Given the description of an element on the screen output the (x, y) to click on. 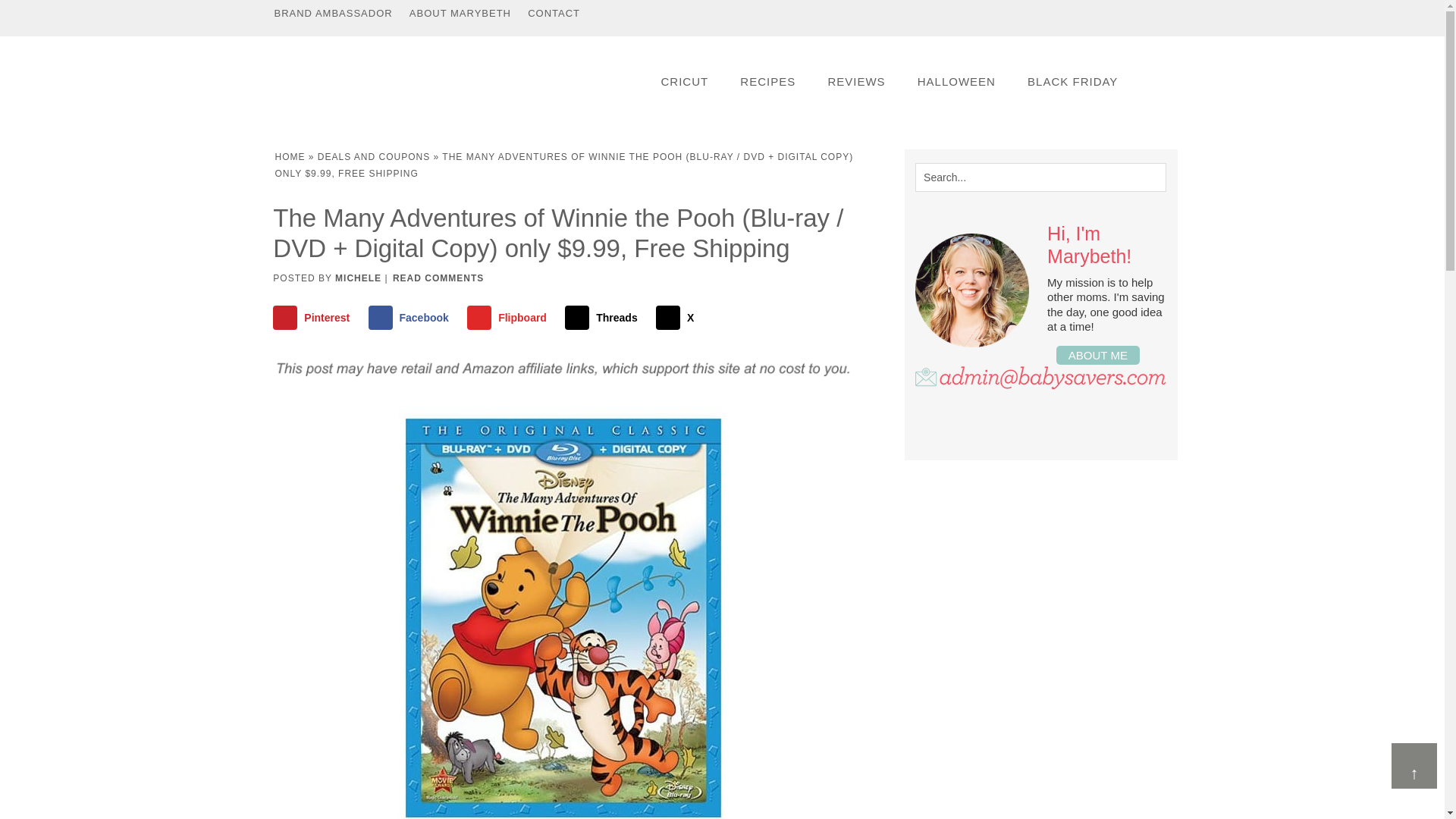
HOME (289, 156)
HALLOWEEN (956, 81)
Flipboard (510, 317)
Share on X (678, 317)
Share on Threads (603, 317)
RECIPES (767, 81)
MICHELE (357, 277)
Facebook (411, 317)
Share on Facebook (411, 317)
Pinterest (314, 317)
DEALS AND COUPONS (373, 156)
CONTACT (553, 13)
BRAND AMBASSADOR (332, 13)
REVIEWS (855, 81)
CRICUT (684, 81)
